Given the description of an element on the screen output the (x, y) to click on. 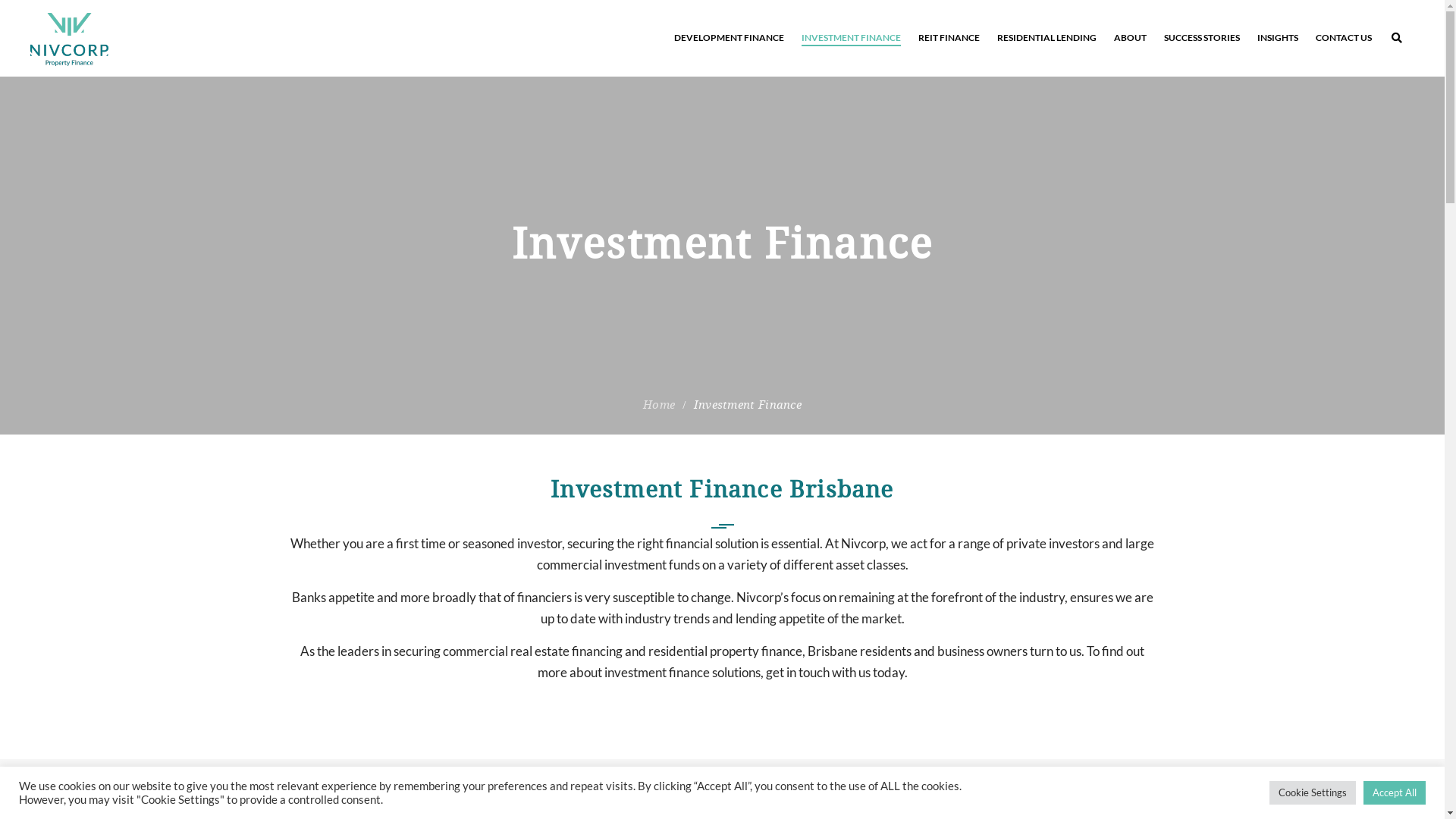
REIT FINANCE Element type: text (948, 37)
DEVELOPMENT FINANCE Element type: text (729, 37)
Search Element type: text (1404, 102)
INSIGHTS Element type: text (1277, 37)
Cookie Settings Element type: text (1312, 792)
INVESTMENT FINANCE Element type: text (850, 37)
Accept All Element type: text (1394, 792)
CONTACT US Element type: text (1343, 37)
RESIDENTIAL LENDING Element type: text (1046, 37)
SUCCESS STORIES Element type: text (1201, 37)
ABOUT Element type: text (1129, 37)
